Given the description of an element on the screen output the (x, y) to click on. 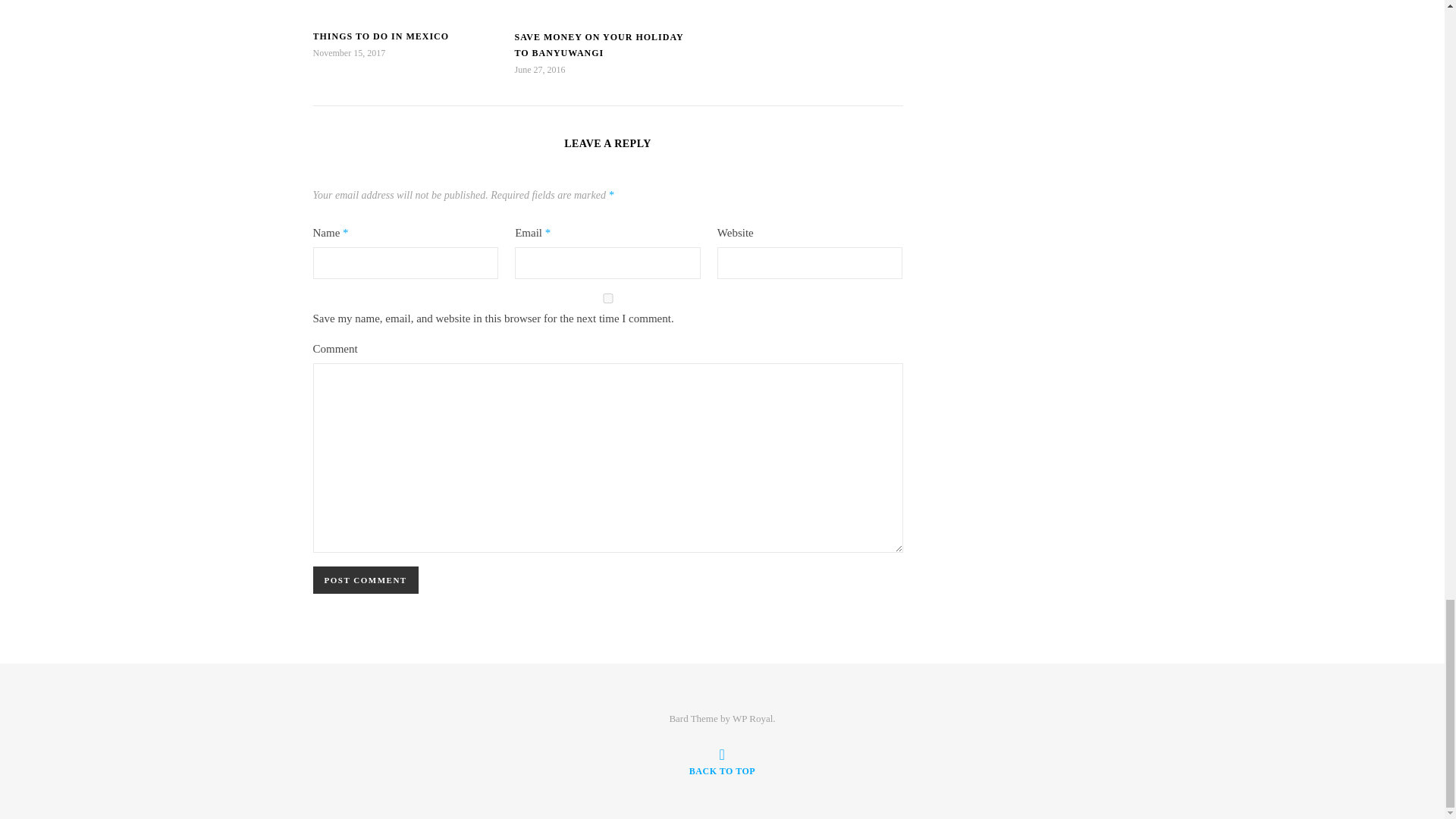
BACK TO TOP (722, 761)
Post Comment (365, 579)
yes (607, 298)
THINGS TO DO IN MEXICO (380, 36)
SAVE MONEY ON YOUR HOLIDAY TO BANYUWANGI (597, 44)
Post Comment (365, 579)
